Given the description of an element on the screen output the (x, y) to click on. 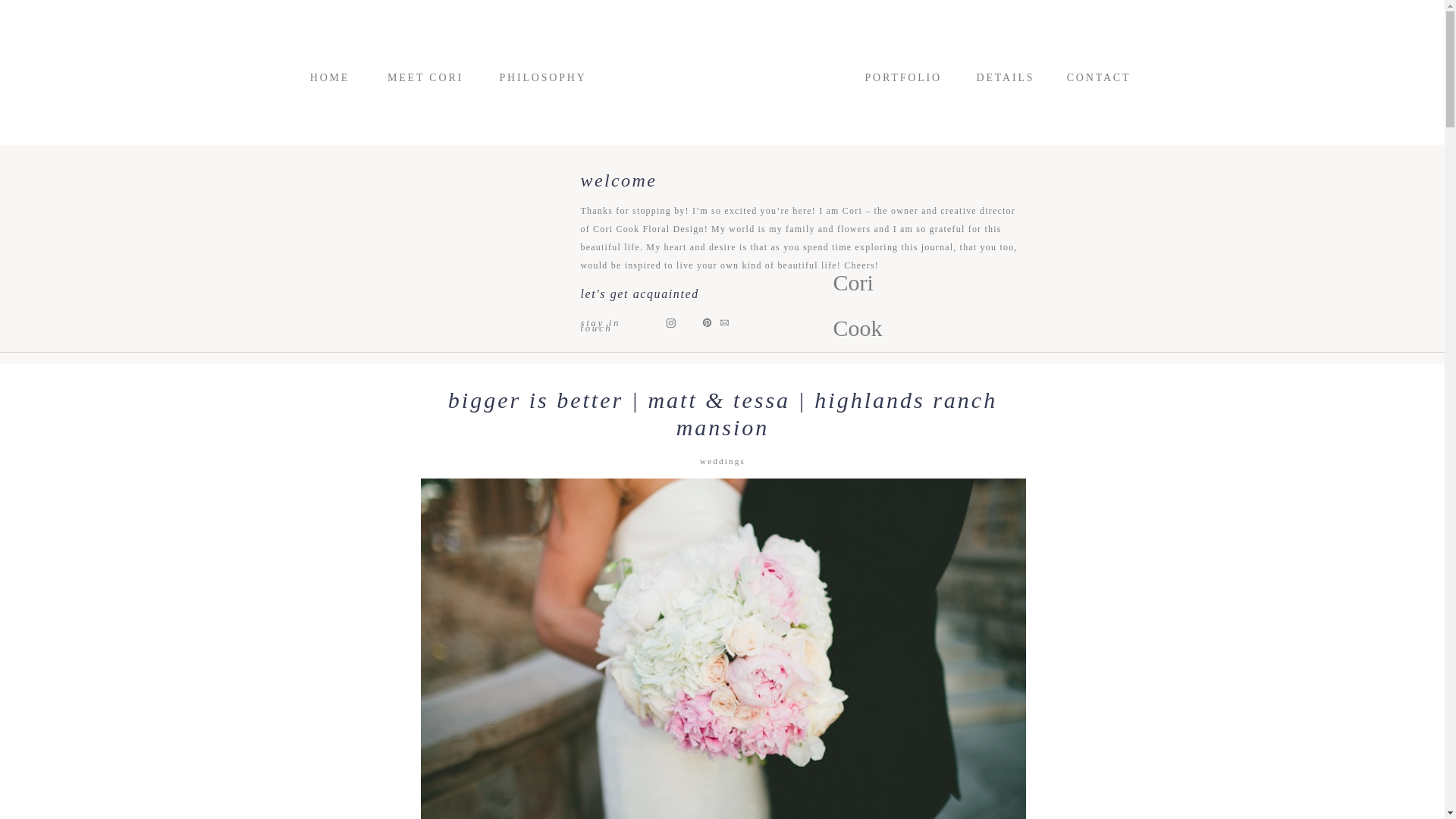
Instagram-color Created with Sketch. (670, 321)
PORTFOLIO (900, 76)
DETAILS (1005, 76)
PHILOSOPHY (535, 76)
let's get acquainted (643, 291)
MEET CORI (424, 76)
weddings (722, 461)
HOME (329, 76)
Instagram-color Created with Sketch. (670, 322)
CONTACT (1098, 76)
